Given the description of an element on the screen output the (x, y) to click on. 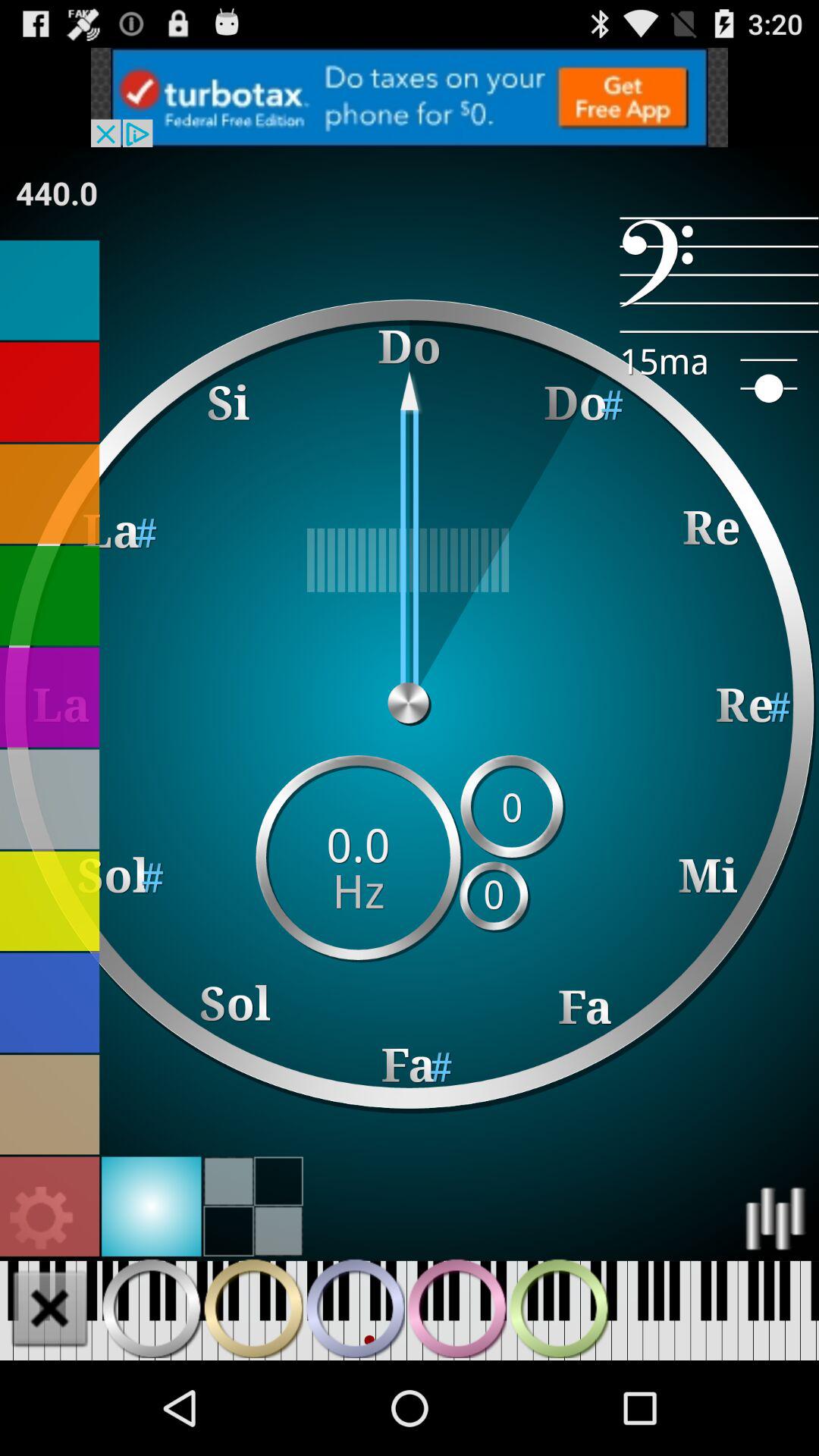
play paino (253, 1308)
